Given the description of an element on the screen output the (x, y) to click on. 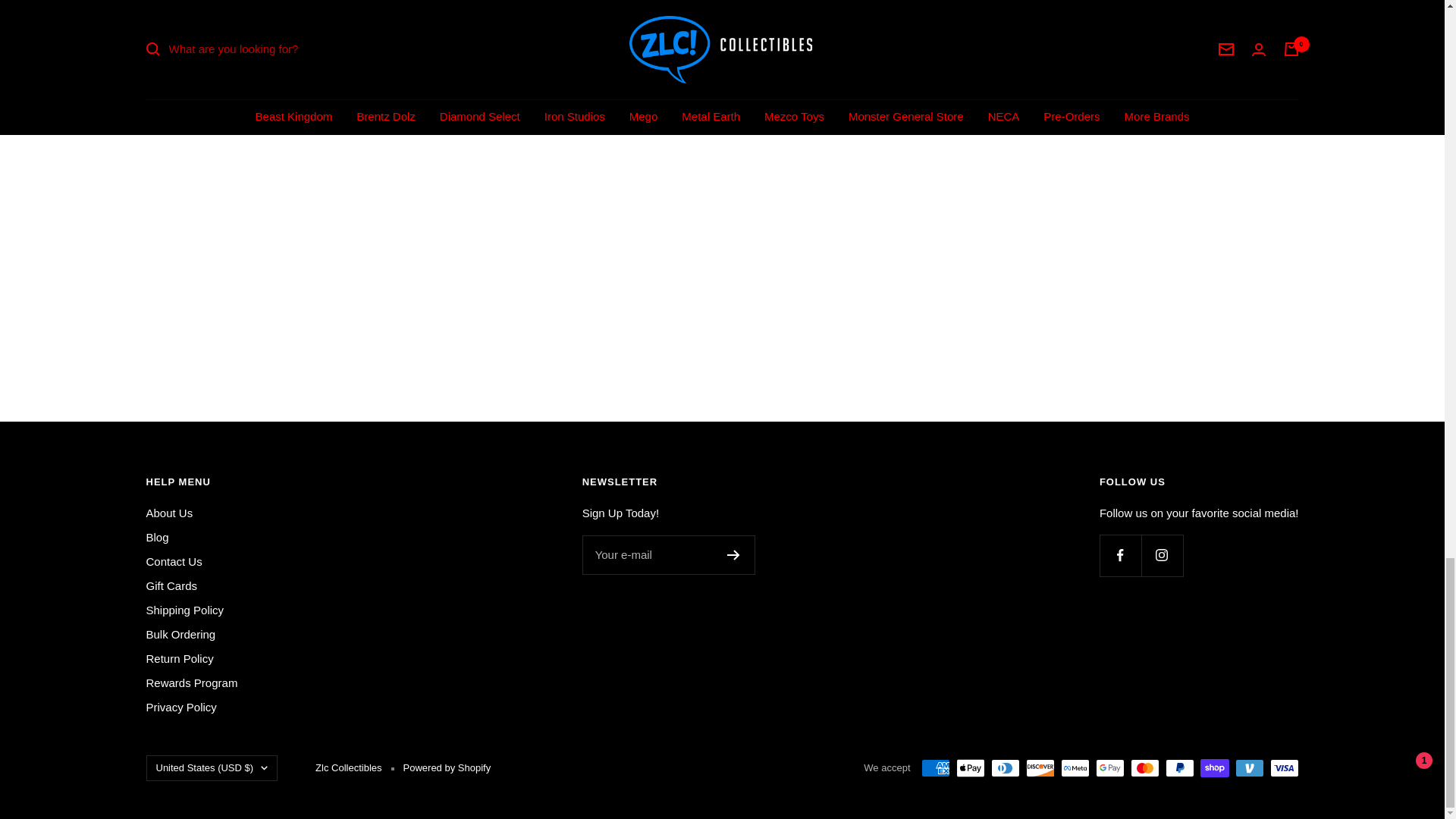
Register (732, 554)
